Given the description of an element on the screen output the (x, y) to click on. 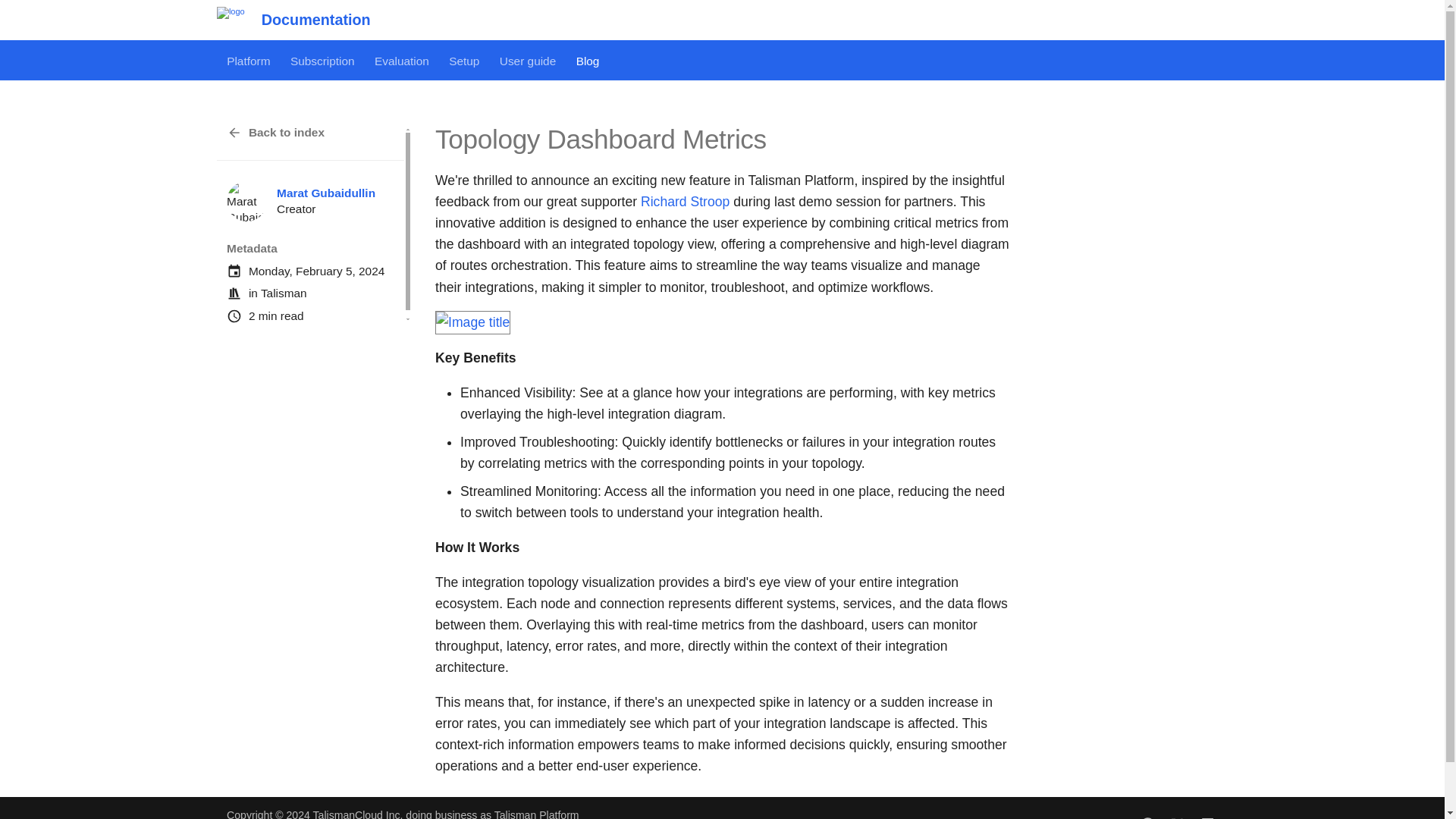
Documentation (230, 19)
User guide (527, 60)
Marat Gubaidullin (325, 192)
Platform (248, 60)
Evaluation (401, 60)
twitter.com (1177, 814)
TalismanCloud Inc. doing business as Talisman Platform (446, 814)
Subscription (322, 60)
Talisman (283, 292)
Back to index (310, 132)
